Given the description of an element on the screen output the (x, y) to click on. 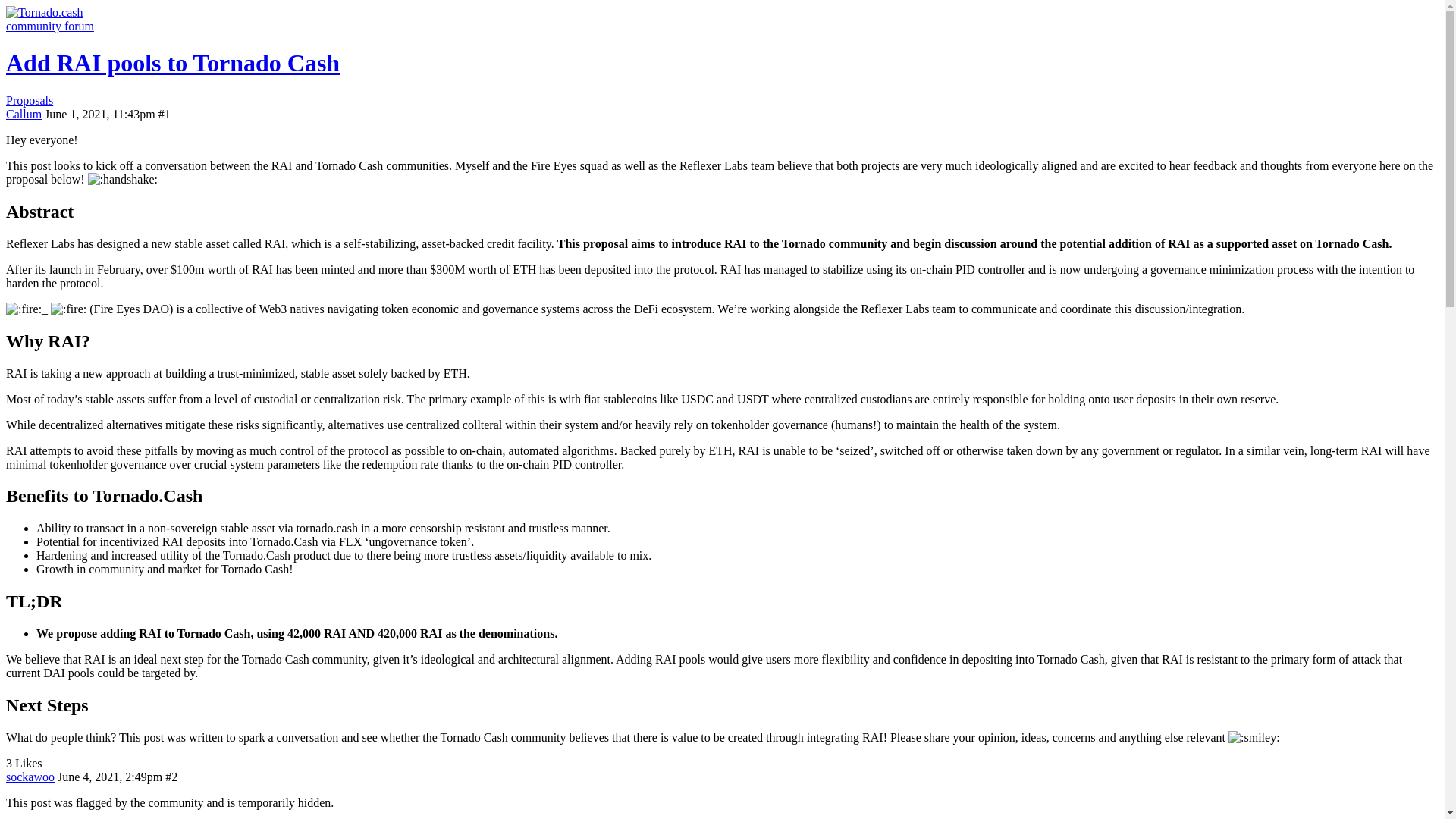
:smiley: (1253, 737)
:fire: (23, 309)
:fire: (67, 309)
Callum (23, 113)
:handshake: (122, 179)
sockawoo (30, 776)
Proposals (28, 100)
Add RAI pools to Tornado Cash (172, 62)
